Given the description of an element on the screen output the (x, y) to click on. 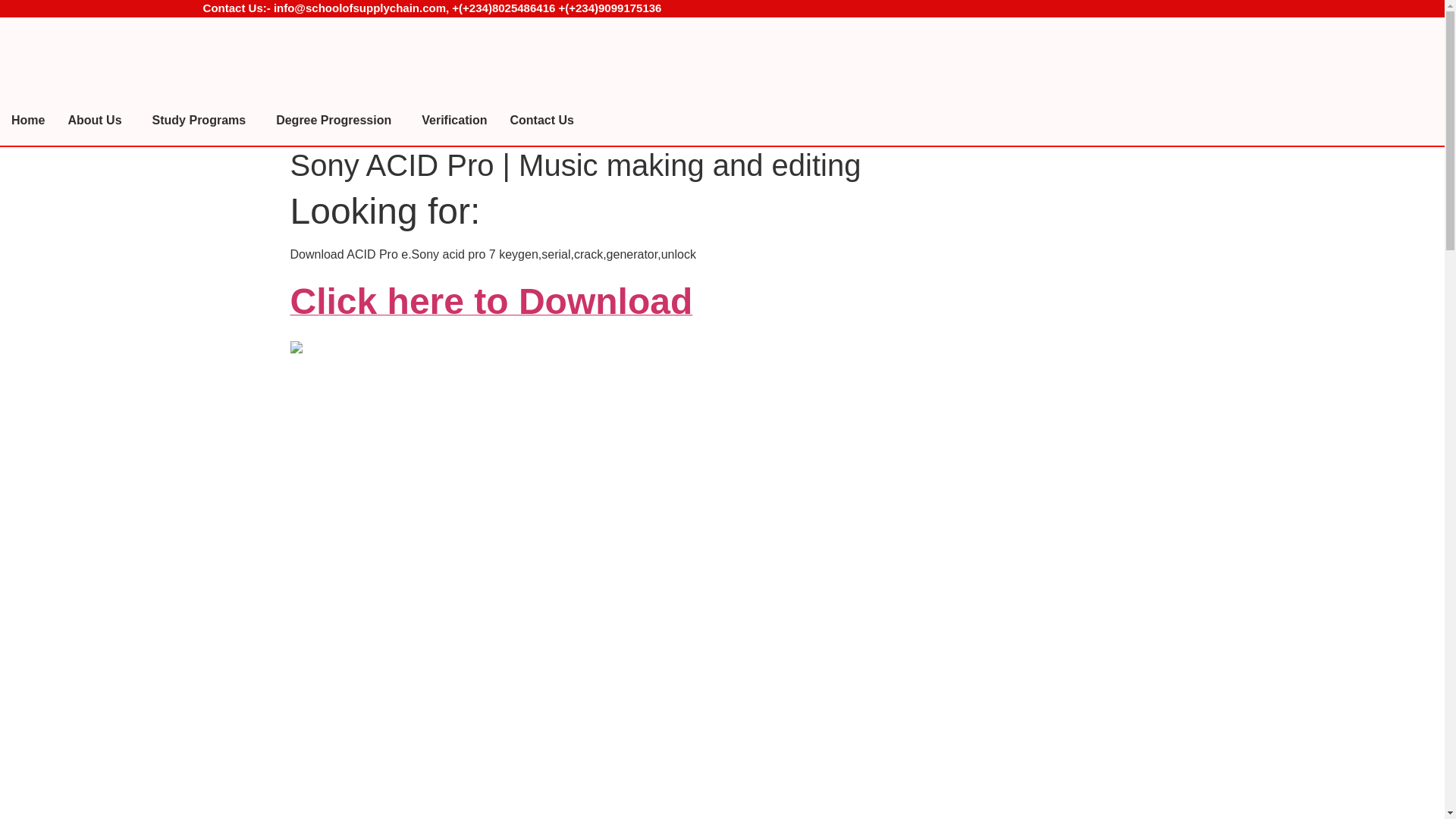
Degree Progression (337, 120)
Verification (453, 120)
Study Programs (202, 120)
Home (28, 120)
Contact Us (541, 120)
About Us (97, 120)
Click here to Download (491, 309)
